Given the description of an element on the screen output the (x, y) to click on. 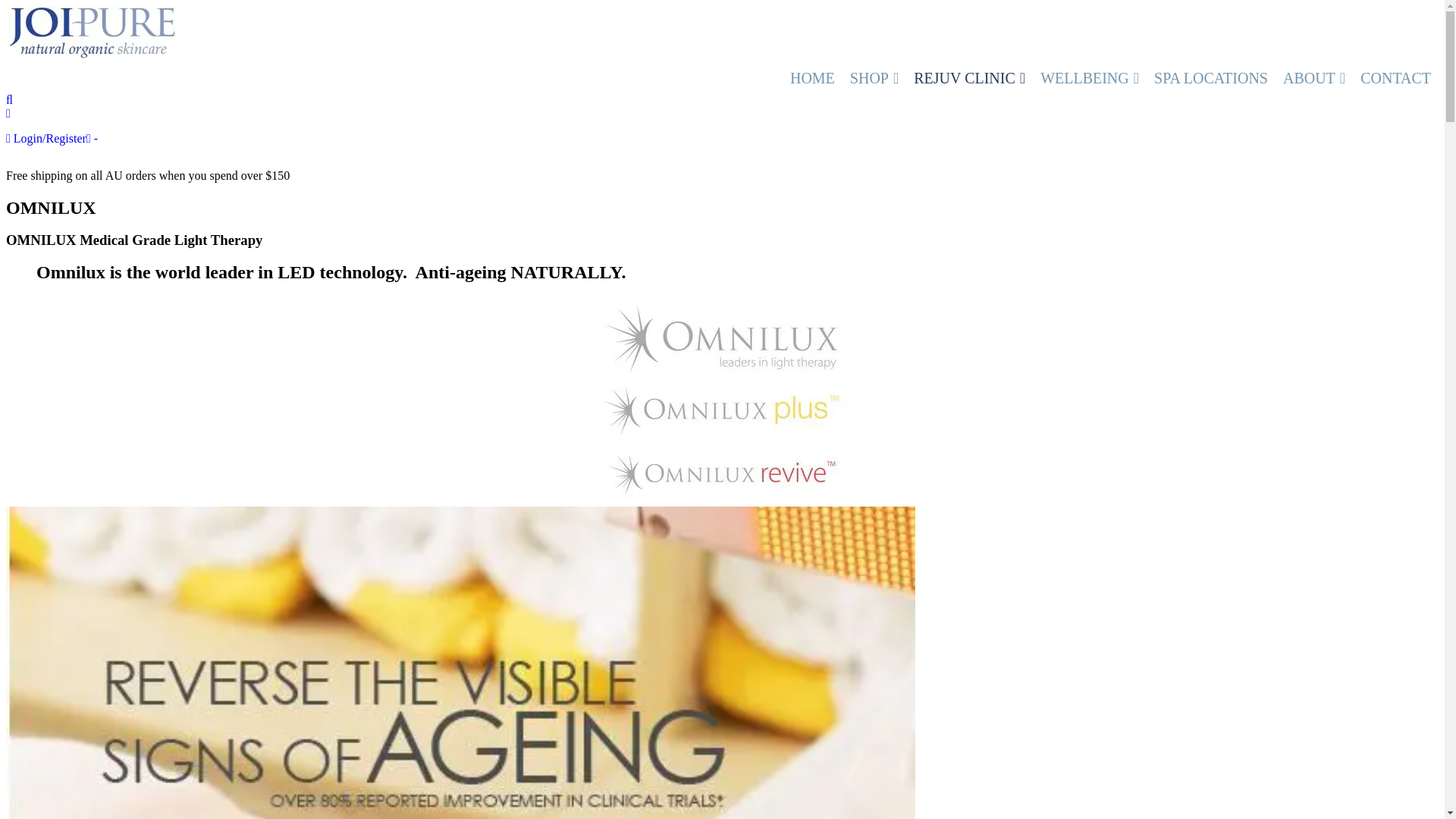
WELLBEING Element type: text (1089, 77)
CONTACT Element type: text (1395, 77)
ABOUT Element type: text (1313, 77)
SHOP Element type: text (874, 77)
Login/Register Element type: text (46, 137)
REJUV CLINIC Element type: text (969, 77)
- Element type: text (91, 137)
SPA LOCATIONS Element type: text (1210, 77)
HOME Element type: text (812, 77)
